Given the description of an element on the screen output the (x, y) to click on. 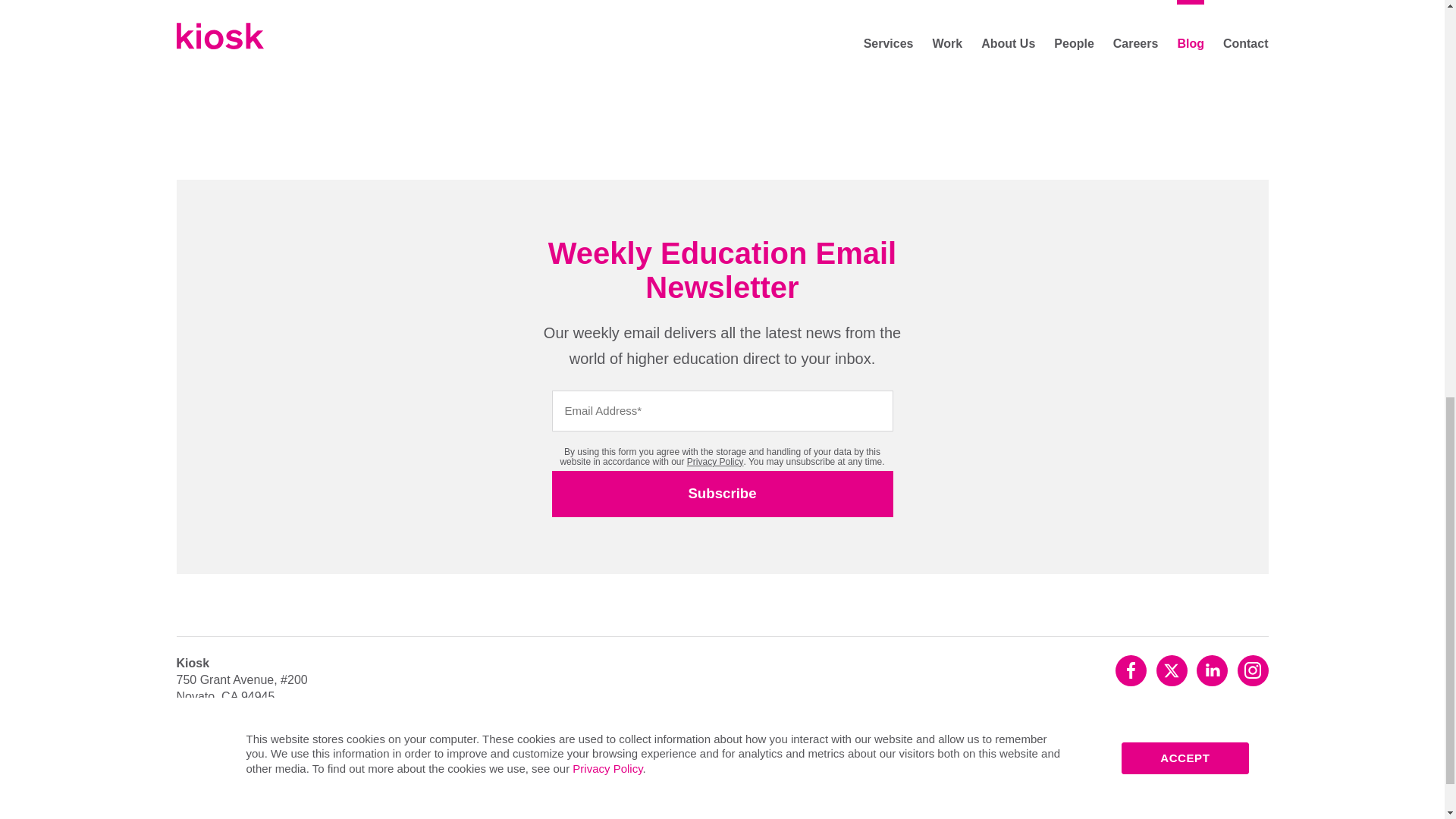
Subscribe (722, 493)
Back to All Education Posts (443, 57)
Subscribe (722, 493)
Privacy Policy (217, 780)
Privacy Policy (715, 461)
Community (306, 780)
View the full article from The Hechinger Report. (501, 2)
